Given the description of an element on the screen output the (x, y) to click on. 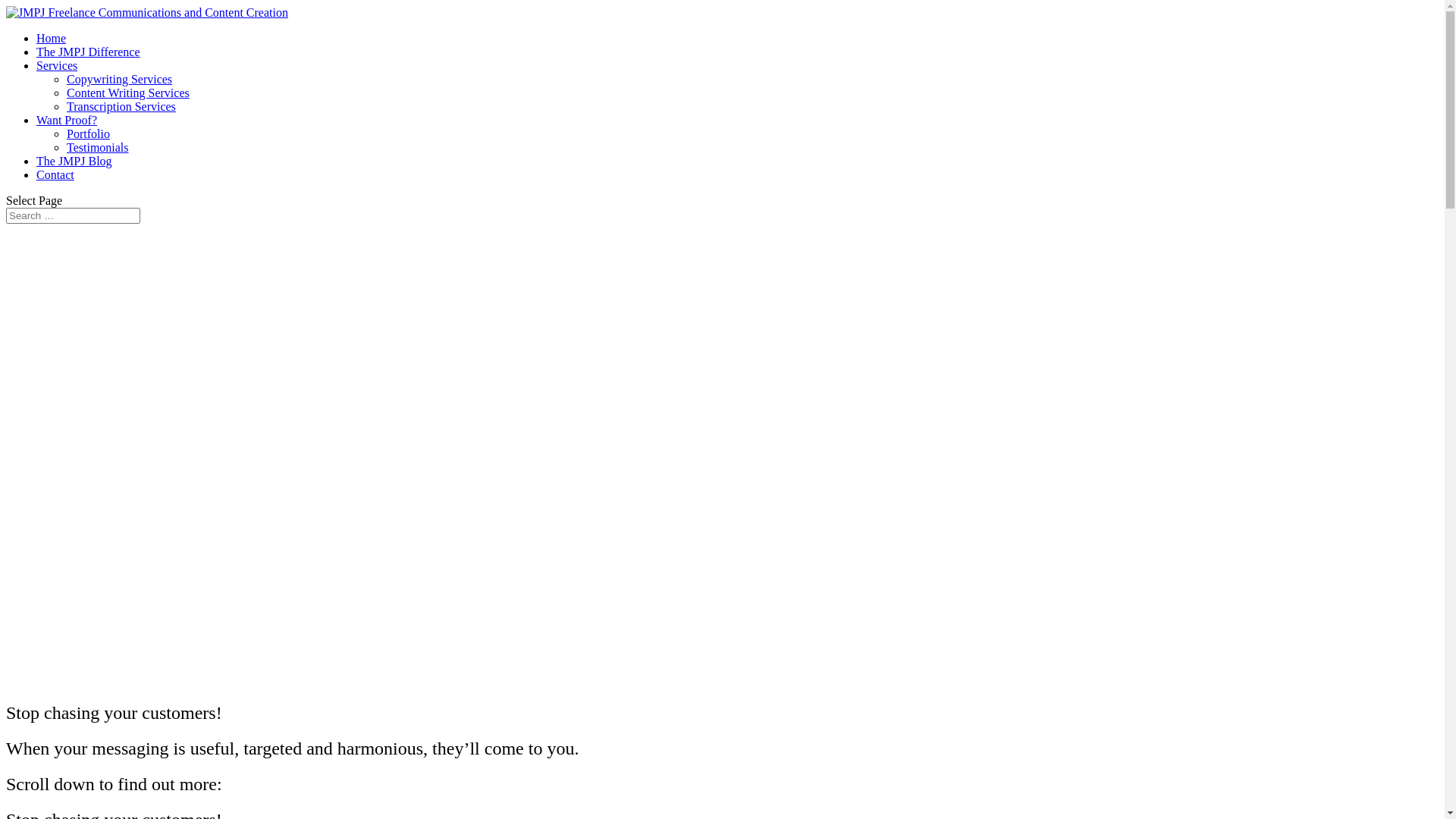
Copywriting Services Element type: text (119, 78)
The JMPJ Difference Element type: text (88, 51)
Transcription Services Element type: text (120, 106)
Welcome to JMPJ Freelance Communcations And Content Creation Element type: hover (415, 453)
Services Element type: text (56, 65)
Home Element type: text (50, 37)
Contact Element type: text (55, 174)
Portfolio Element type: text (87, 133)
Testimonials Element type: text (97, 147)
Want Proof? Element type: text (66, 119)
The JMPJ Blog Element type: text (74, 160)
Search for: Element type: hover (73, 215)
Content Writing Services Element type: text (127, 92)
